Given the description of an element on the screen output the (x, y) to click on. 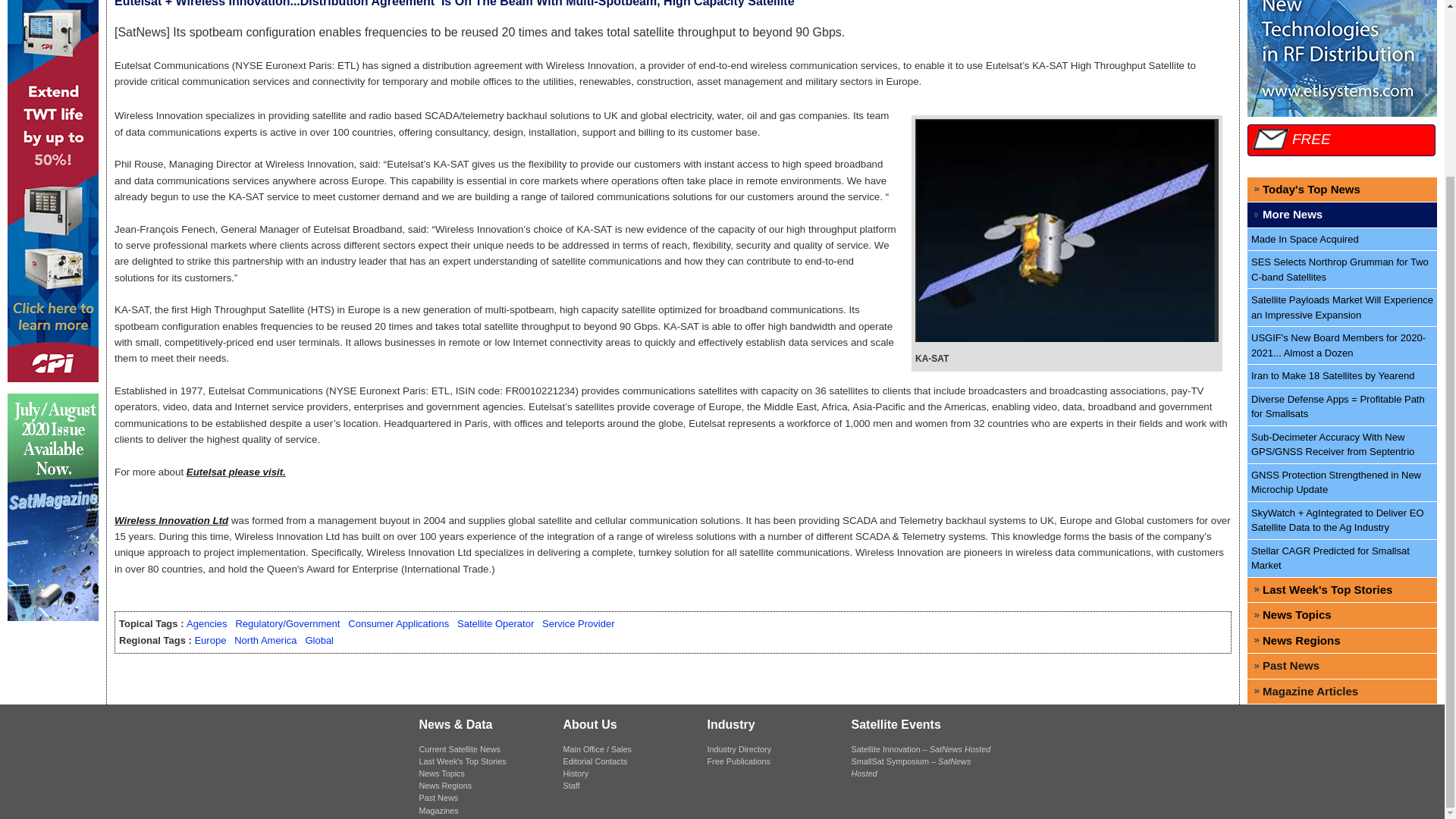
Eutelsat please visit. (235, 471)
Made In Space Acquired (1342, 239)
Service Provider (577, 623)
Consumer Applications (397, 623)
Europe (209, 640)
North America (265, 640)
Global (318, 640)
SES Selects Northrop Grumman for Two C-band Satellites (1342, 269)
Satellite Operator (495, 623)
Wireless Innovation Ltd (171, 520)
Agencies (206, 623)
